Given the description of an element on the screen output the (x, y) to click on. 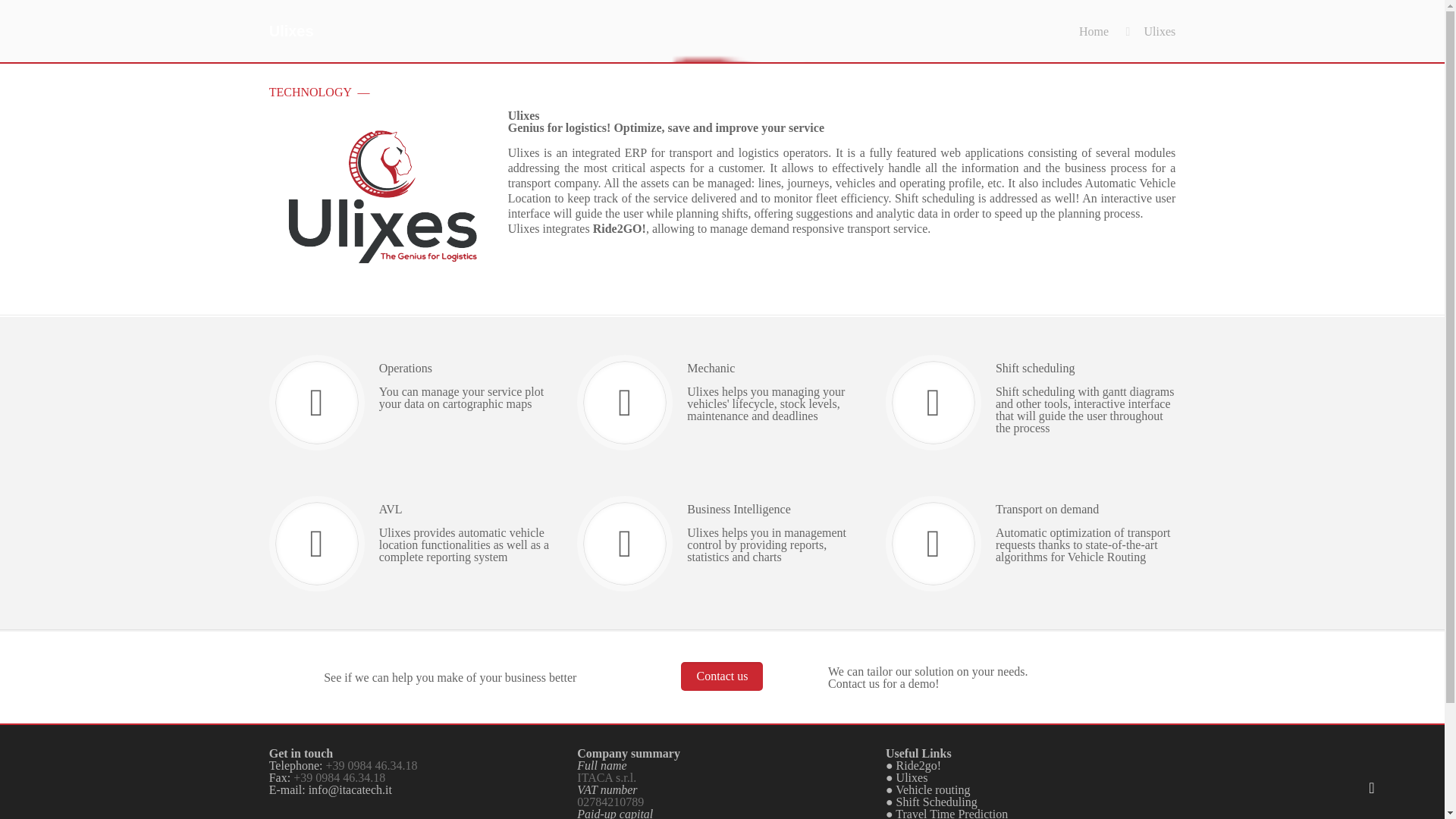
Ride2go! (919, 765)
ulixes (382, 196)
Ulixes (1158, 31)
Vehicle routing (932, 789)
Contact us (721, 676)
Travel Time Prediction (951, 813)
Shift Scheduling (936, 801)
Home (1093, 31)
Ulixes (912, 777)
